Given the description of an element on the screen output the (x, y) to click on. 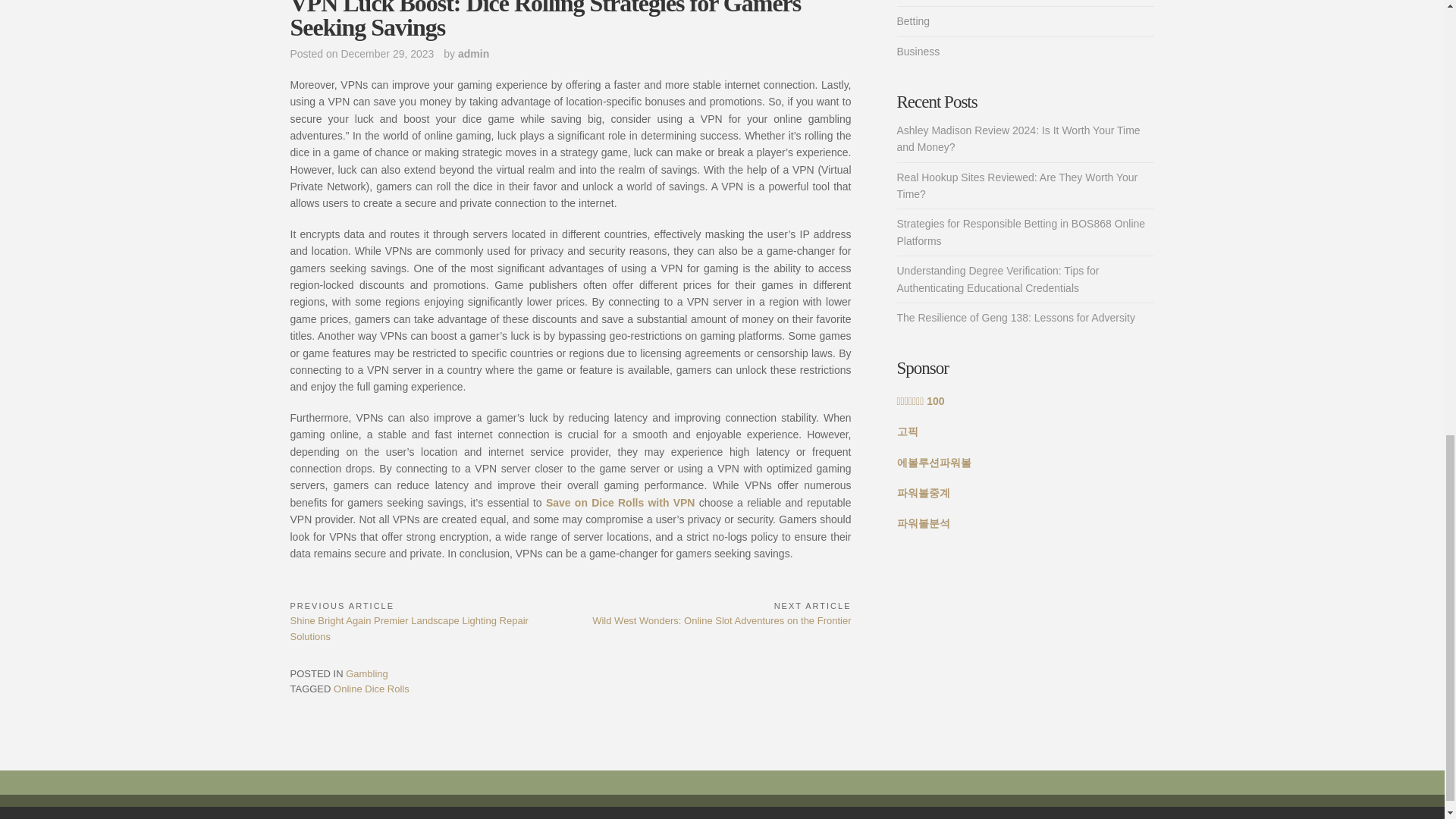
Ashley Madison Review 2024: Is It Worth Your Time and Money? (1018, 138)
Business (917, 51)
December 29, 2023 (386, 53)
Gambling (367, 673)
admin (473, 53)
Online Dice Rolls (371, 688)
Betting (913, 21)
Save on Dice Rolls with VPN (620, 502)
